Given the description of an element on the screen output the (x, y) to click on. 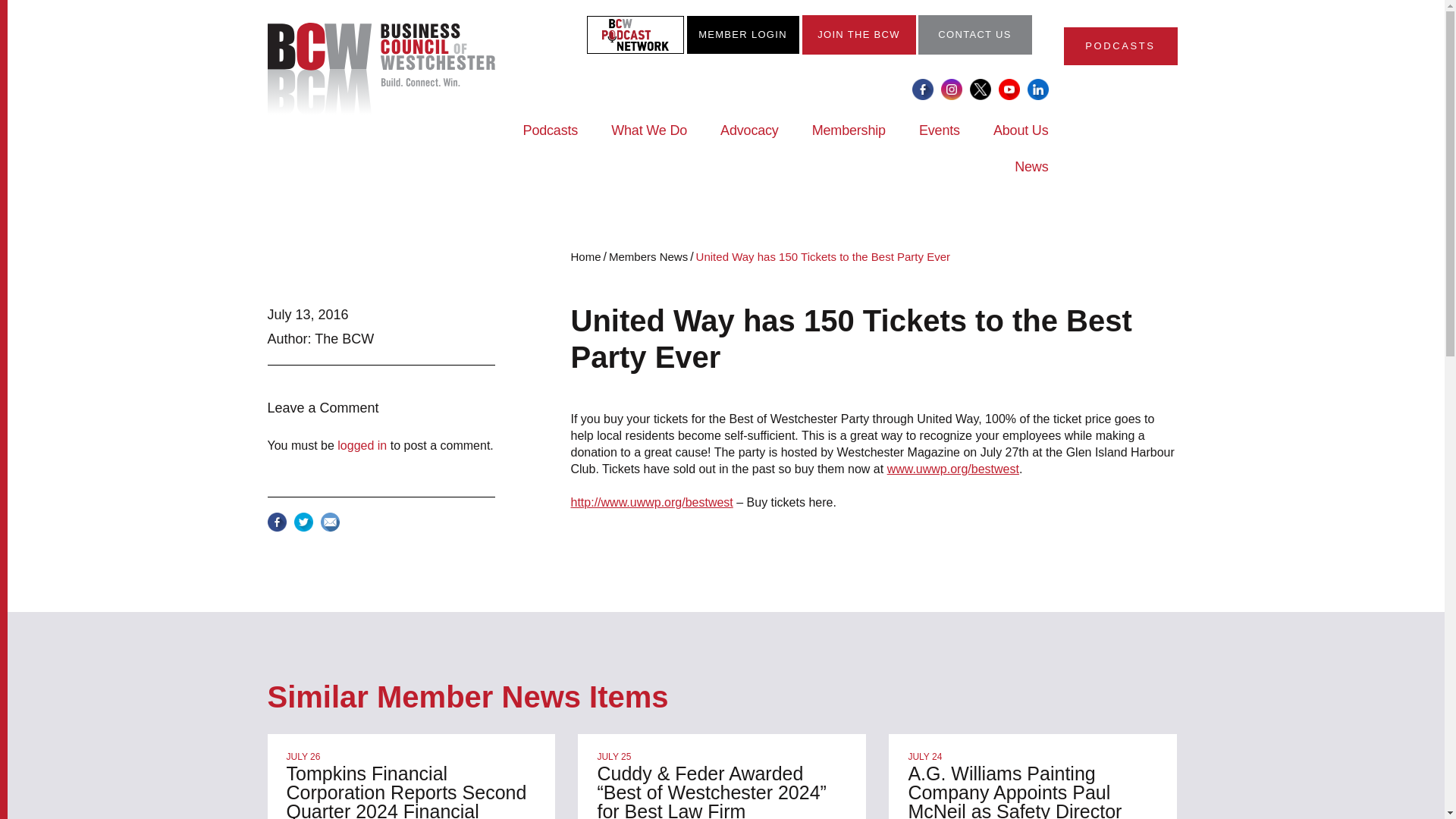
Podcasts (550, 139)
Go to Business Council of Westchester. (586, 256)
Advocacy (749, 139)
What We Do (649, 139)
Membership (848, 139)
Go to Members News. (648, 256)
